Given the description of an element on the screen output the (x, y) to click on. 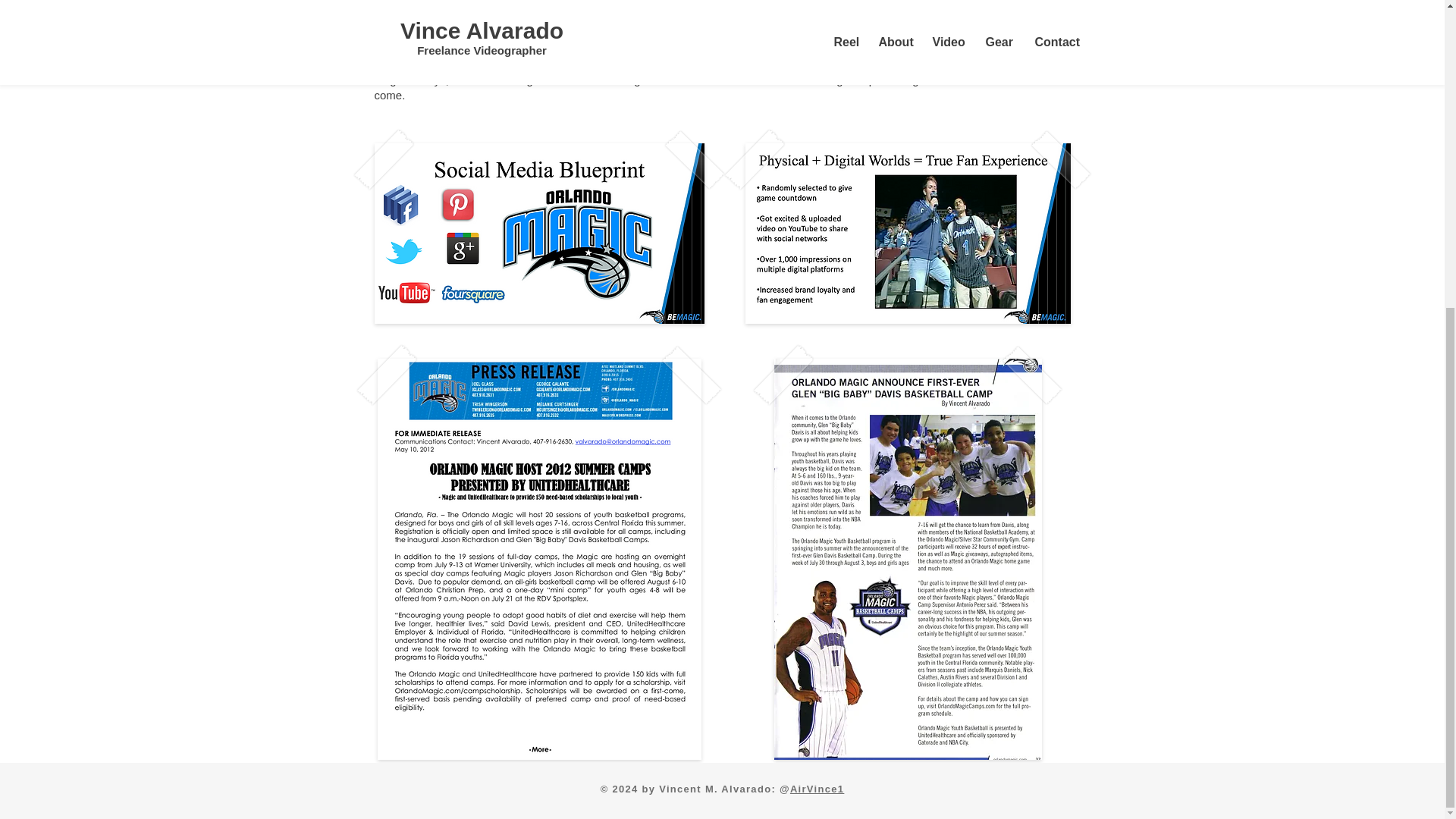
AirVince1 (817, 788)
